Given the description of an element on the screen output the (x, y) to click on. 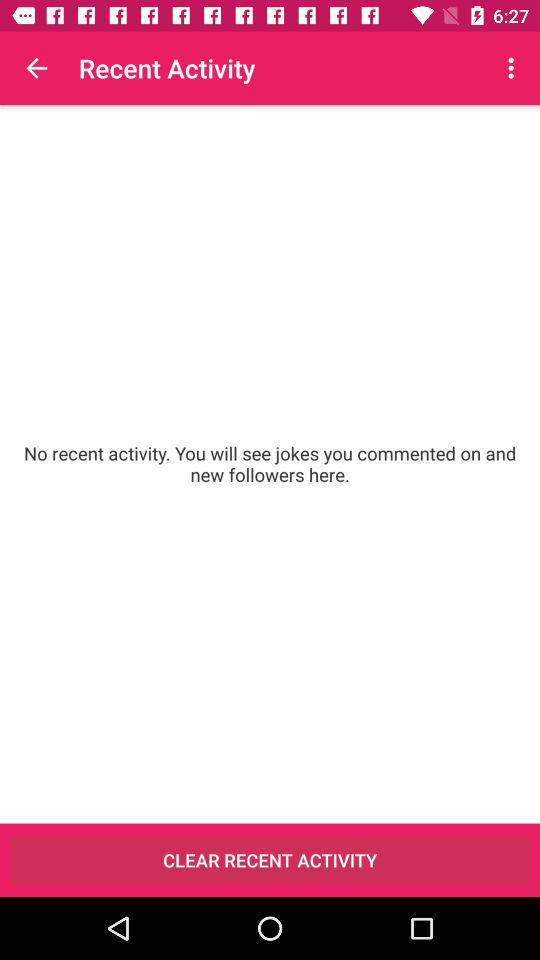
choose the item above no recent activity item (36, 68)
